Given the description of an element on the screen output the (x, y) to click on. 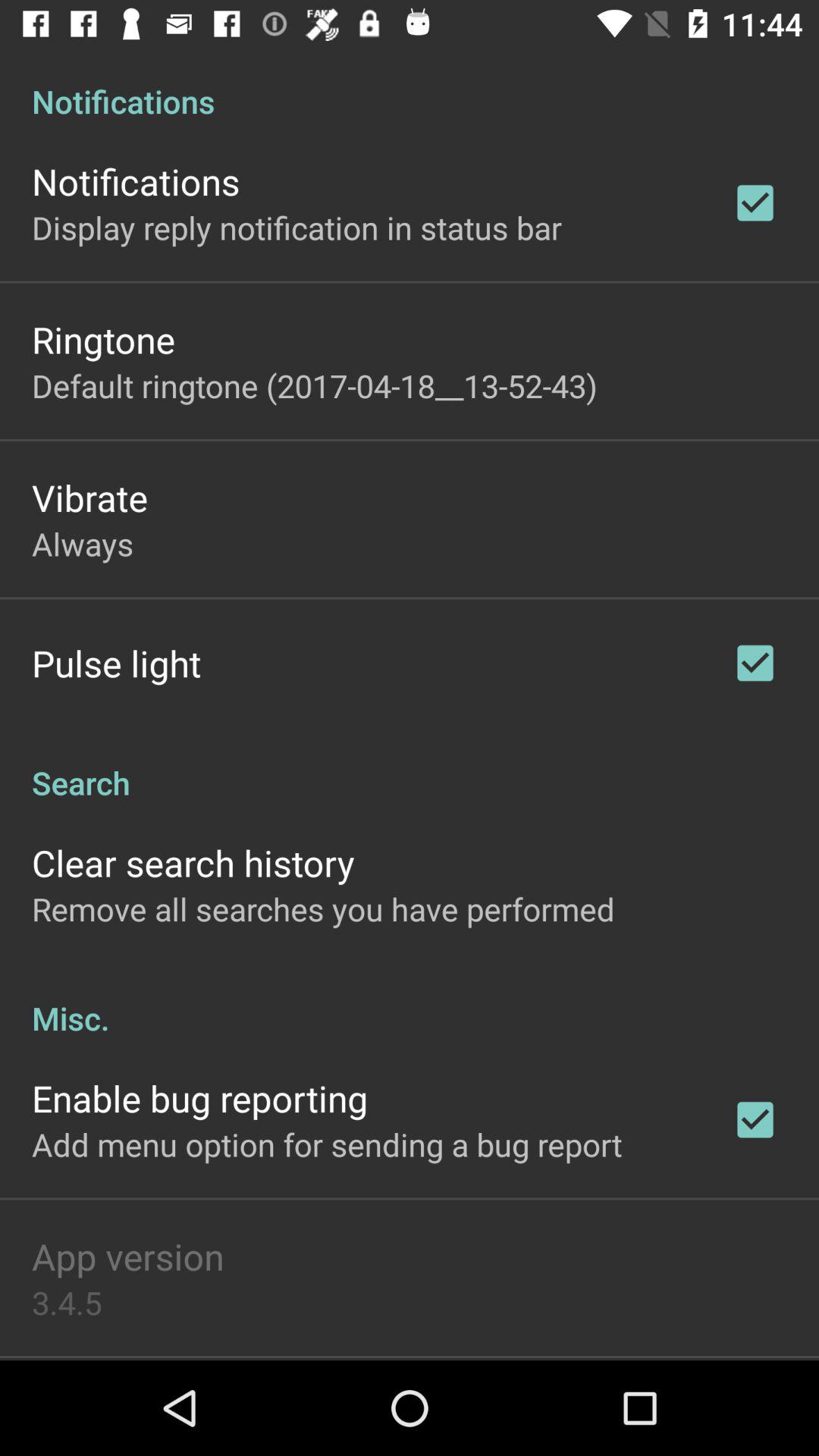
turn on the add menu option (326, 1143)
